Given the description of an element on the screen output the (x, y) to click on. 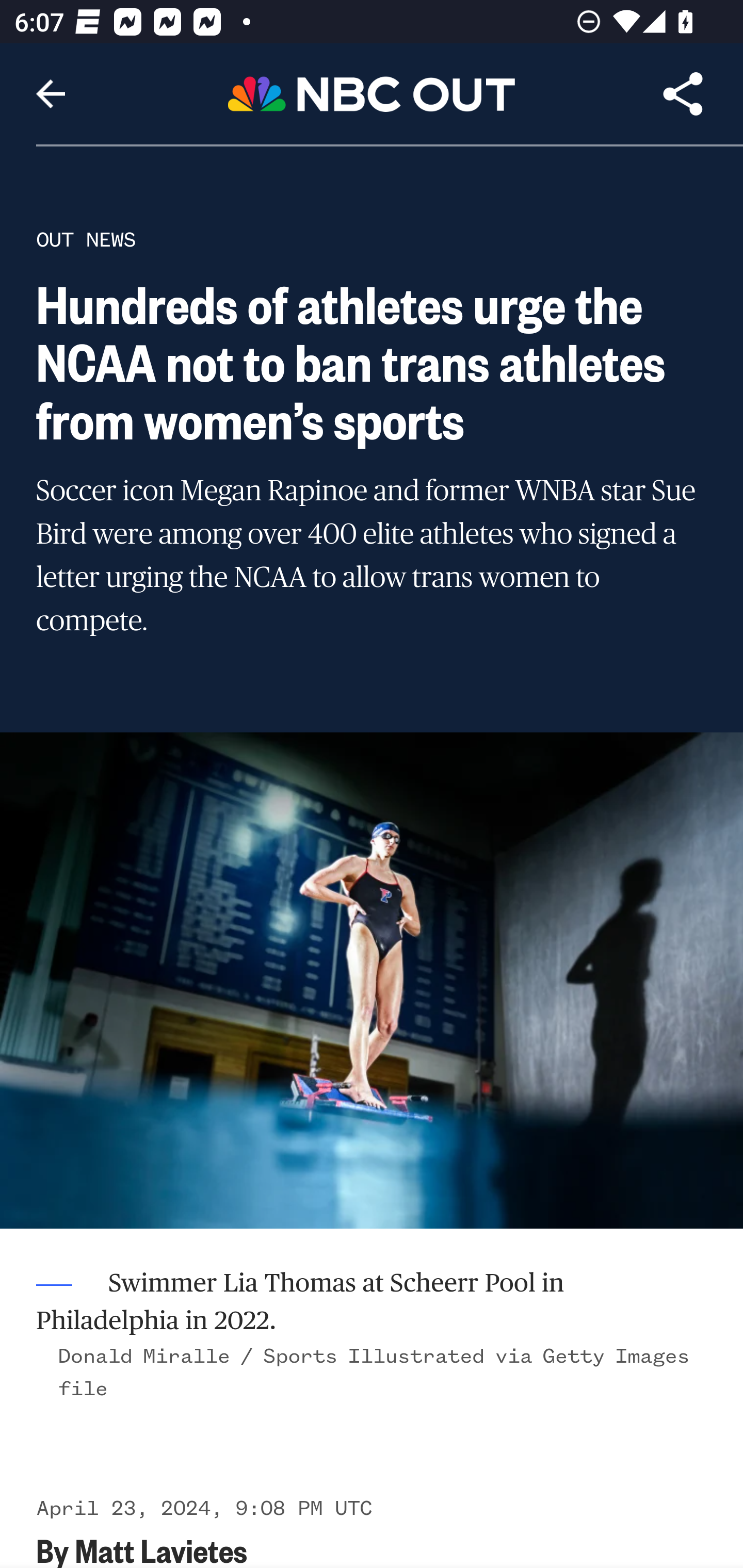
Navigate up (50, 93)
Share Article, button (683, 94)
Header, NBC Out (371, 93)
